Given the description of an element on the screen output the (x, y) to click on. 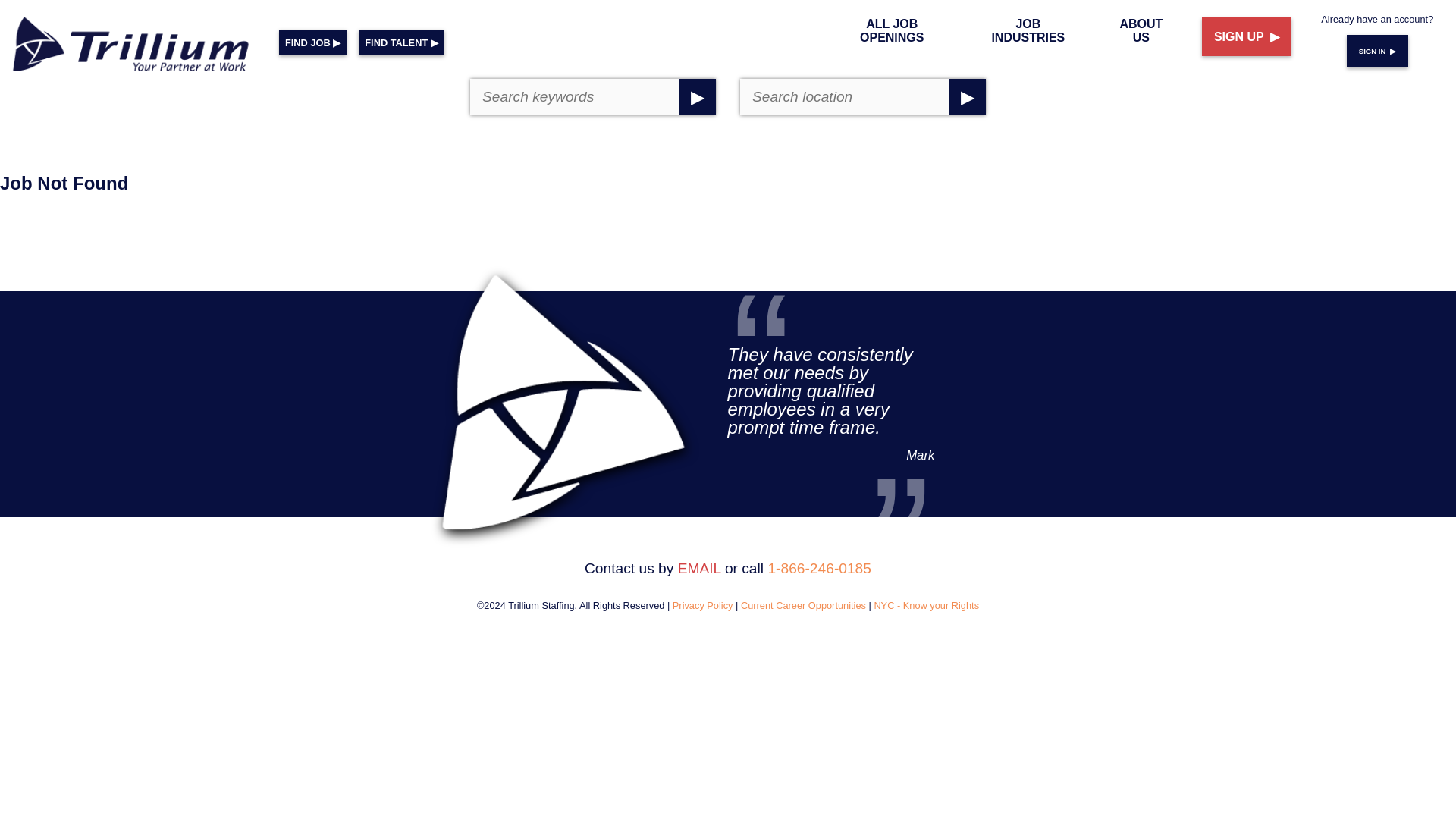
ALL JOB OPENINGS (892, 30)
EMAIL (699, 568)
Logo (532, 369)
JOB INDUSTRIES (1027, 30)
Home Page Logo Link (133, 46)
1-866-246-0185 (818, 568)
ABOUT US (1141, 30)
Current Career Opportunities (803, 604)
NYC - Know your Rights (925, 604)
Privacy Policy (702, 604)
